Given the description of an element on the screen output the (x, y) to click on. 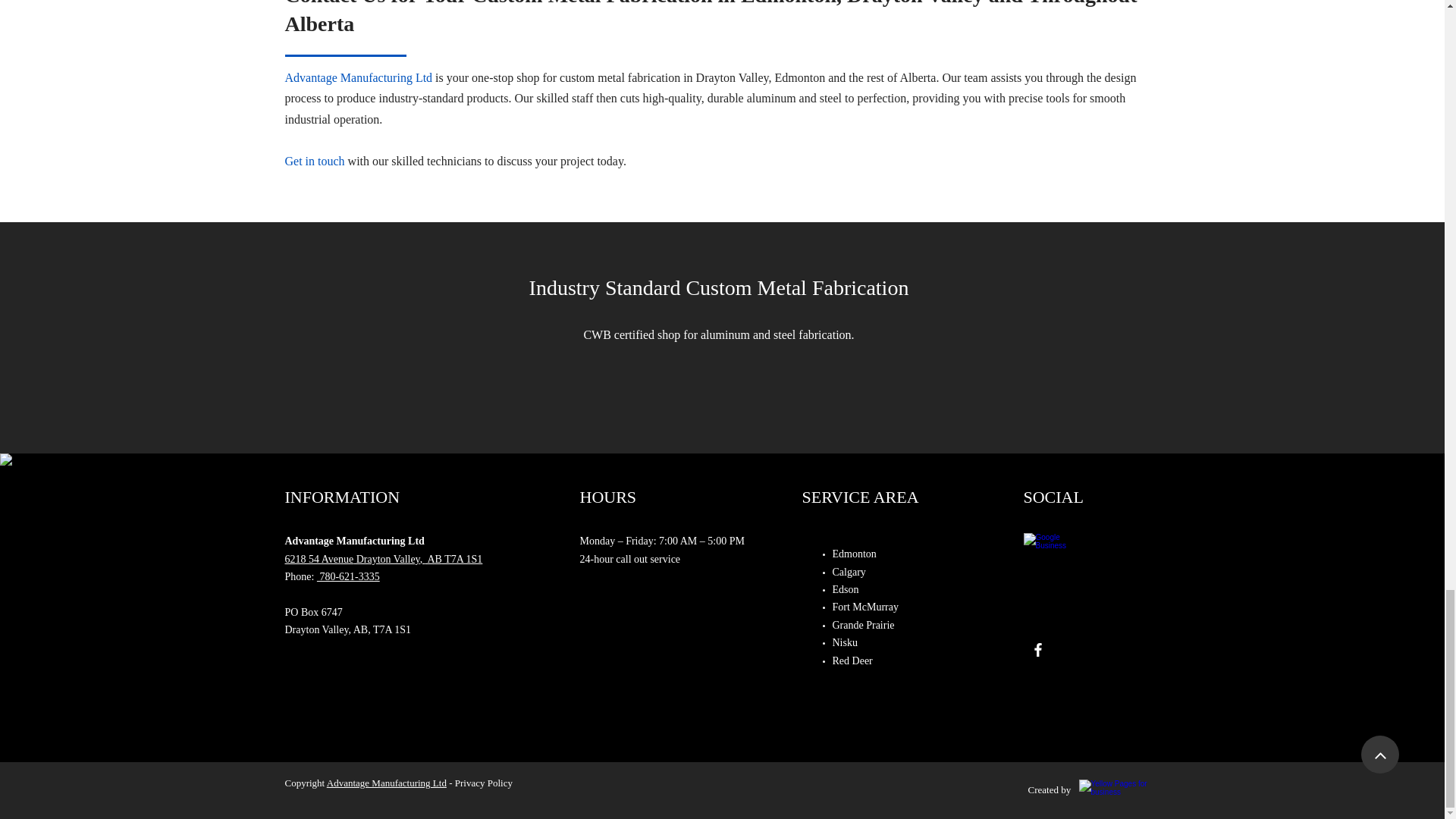
6218 54 Avenue Drayton Valley,  AB T7A 1S1 (384, 559)
780-621-3335 (348, 576)
Advantage Manufacturing Ltd (358, 77)
Get in touch (315, 160)
Advantage Manufacturing Ltd (386, 782)
